Given the description of an element on the screen output the (x, y) to click on. 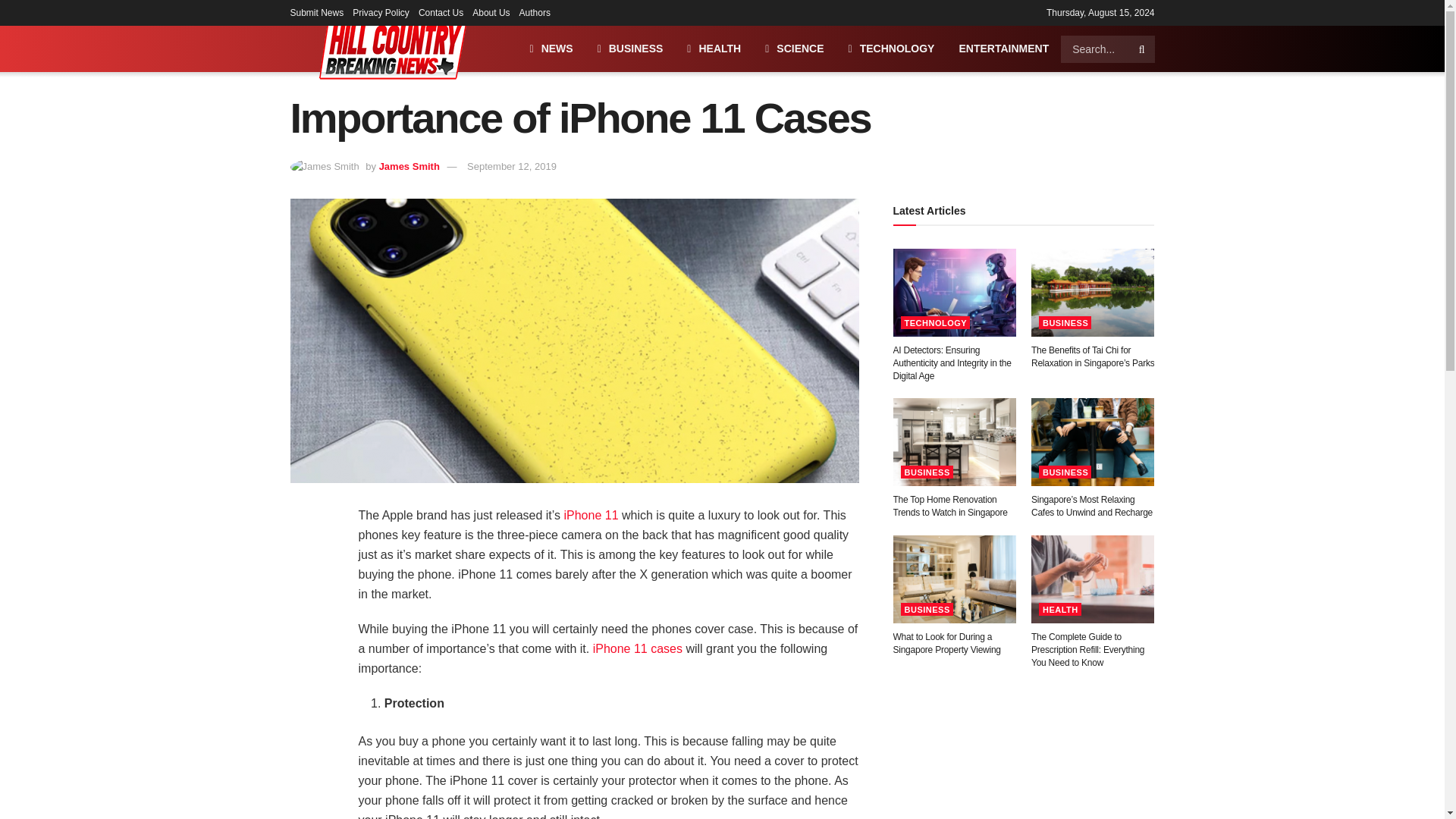
TECHNOLOGY (891, 48)
SCIENCE (793, 48)
iPhone 11 cases (637, 648)
iPhone 11 (590, 514)
ENTERTAINMENT (1003, 48)
The Top Home Renovation Trends to Watch in Singapore (950, 505)
BUSINESS (630, 48)
BUSINESS (1064, 322)
Privacy Policy (380, 12)
